Given the description of an element on the screen output the (x, y) to click on. 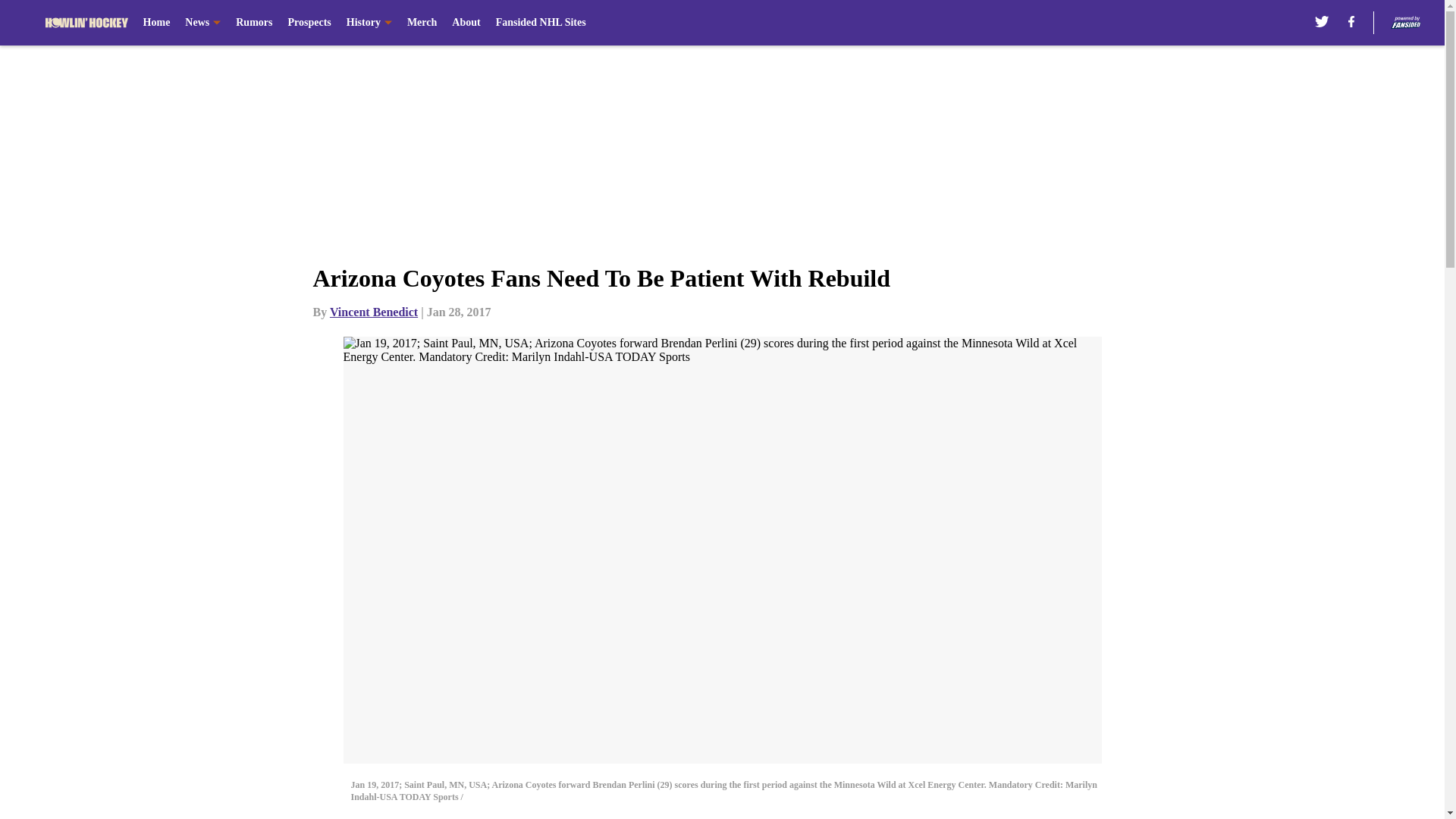
Home (156, 22)
Vincent Benedict (373, 311)
Prospects (308, 22)
Merch (421, 22)
Fansided NHL Sites (541, 22)
Rumors (253, 22)
About (465, 22)
